Given the description of an element on the screen output the (x, y) to click on. 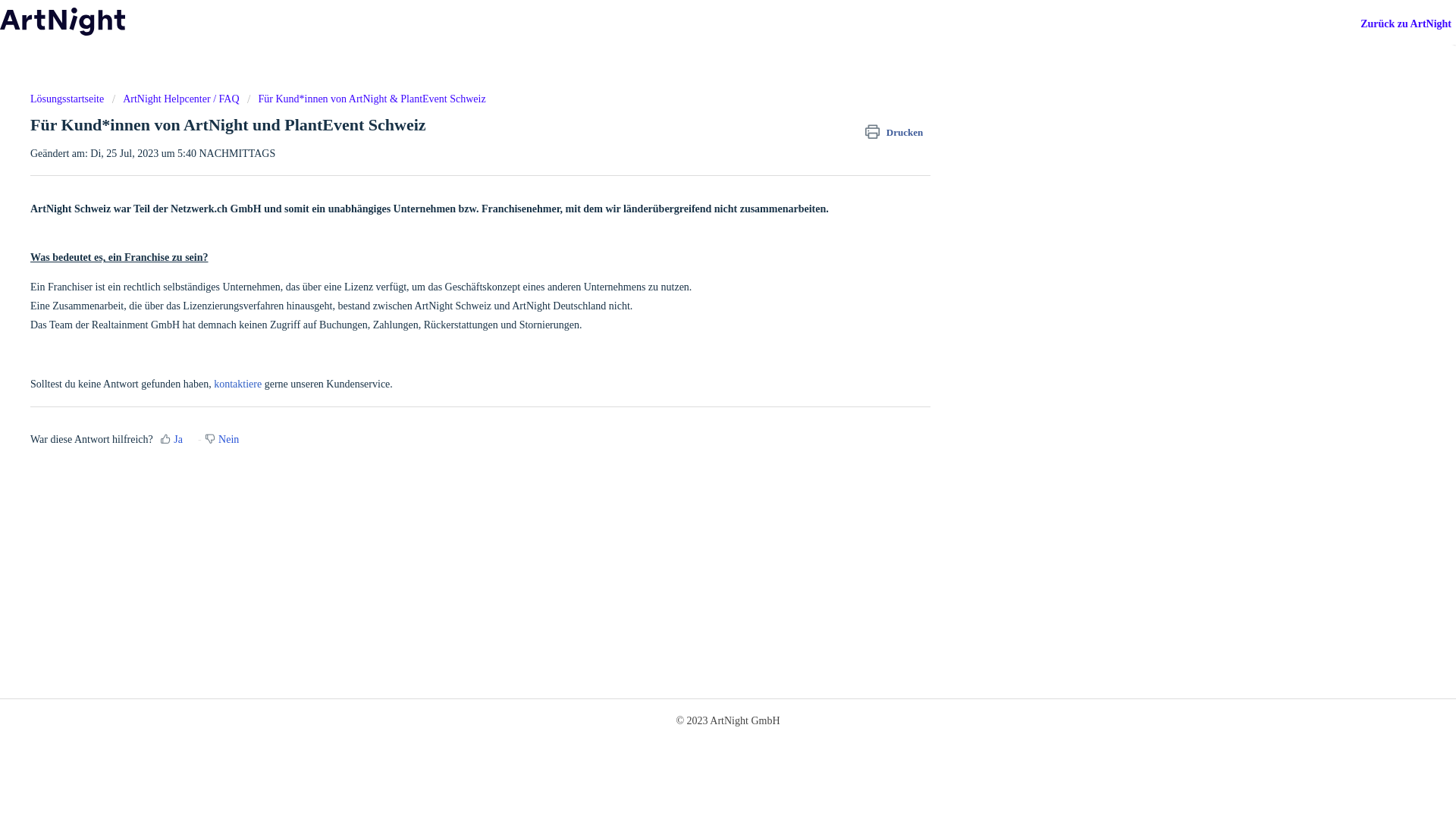
ArtNight Helpcenter / FAQ Element type: text (175, 98)
Drucken Element type: text (897, 132)
kontaktiere Element type: text (237, 383)
